Given the description of an element on the screen output the (x, y) to click on. 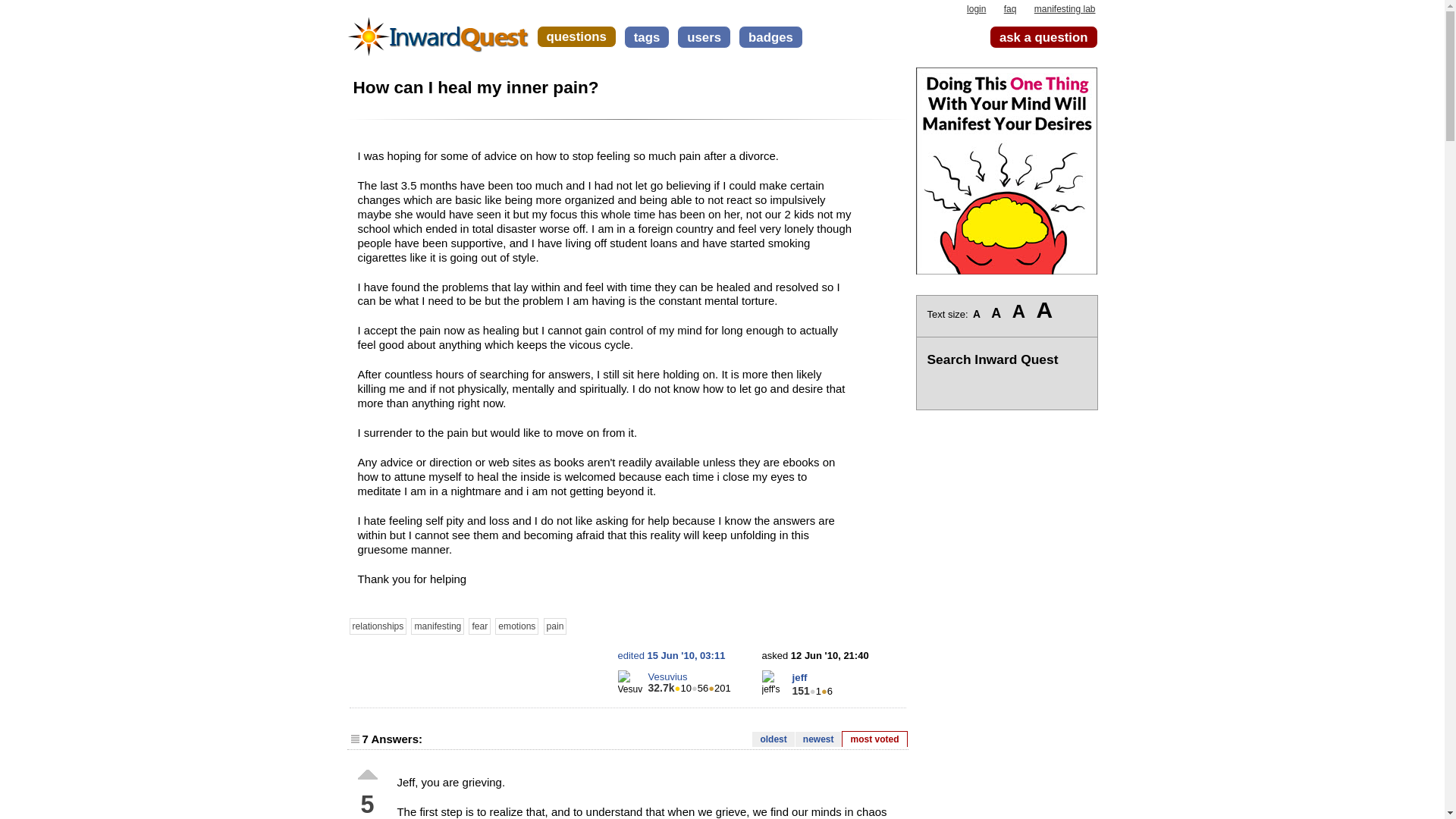
1 badges (815, 690)
most voted (874, 738)
oldest answers will be shown first (772, 739)
oldest (772, 739)
manifesting (437, 626)
fear (479, 626)
manifesting lab (1064, 9)
users (703, 36)
10 badges (683, 687)
faq (1010, 9)
back to home page (438, 30)
201 badges (718, 687)
Vesuvius (667, 676)
edited 15 Jun '10, 03:11 (671, 655)
see questions tagged 'emotions' (516, 626)
